Given the description of an element on the screen output the (x, y) to click on. 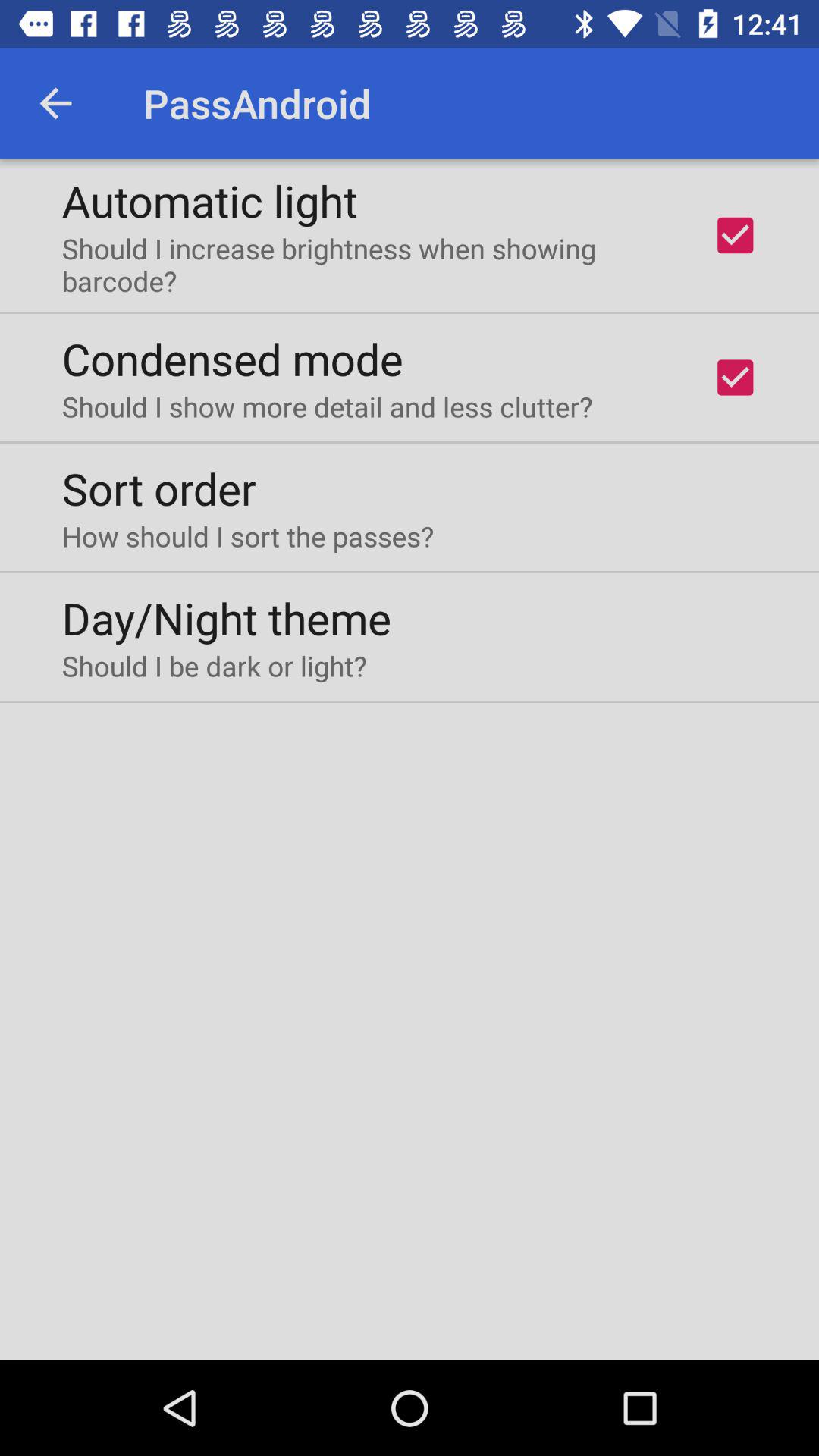
second check box from top (735, 377)
